Given the description of an element on the screen output the (x, y) to click on. 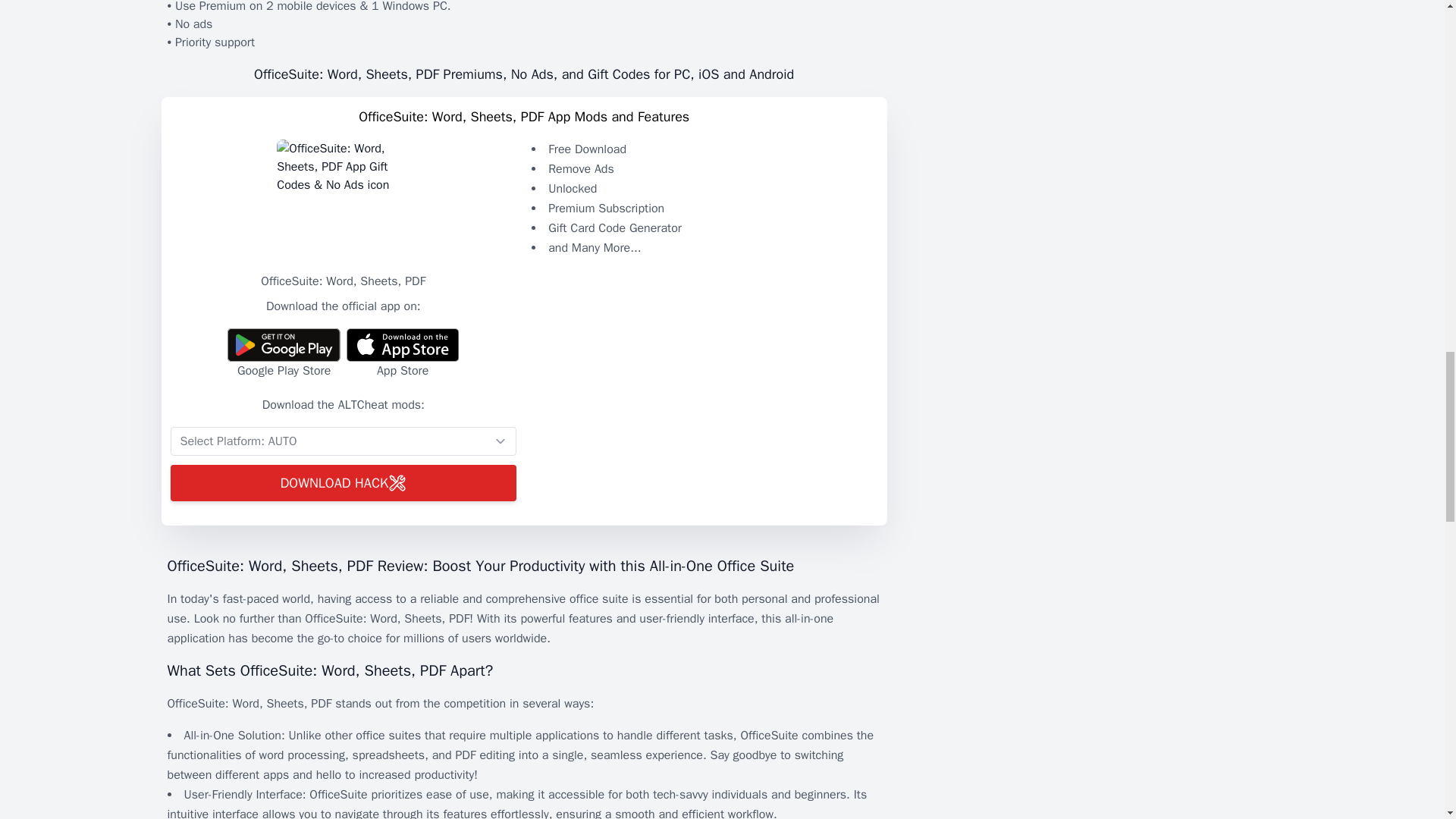
DOWNLOAD HACK (343, 483)
